Given the description of an element on the screen output the (x, y) to click on. 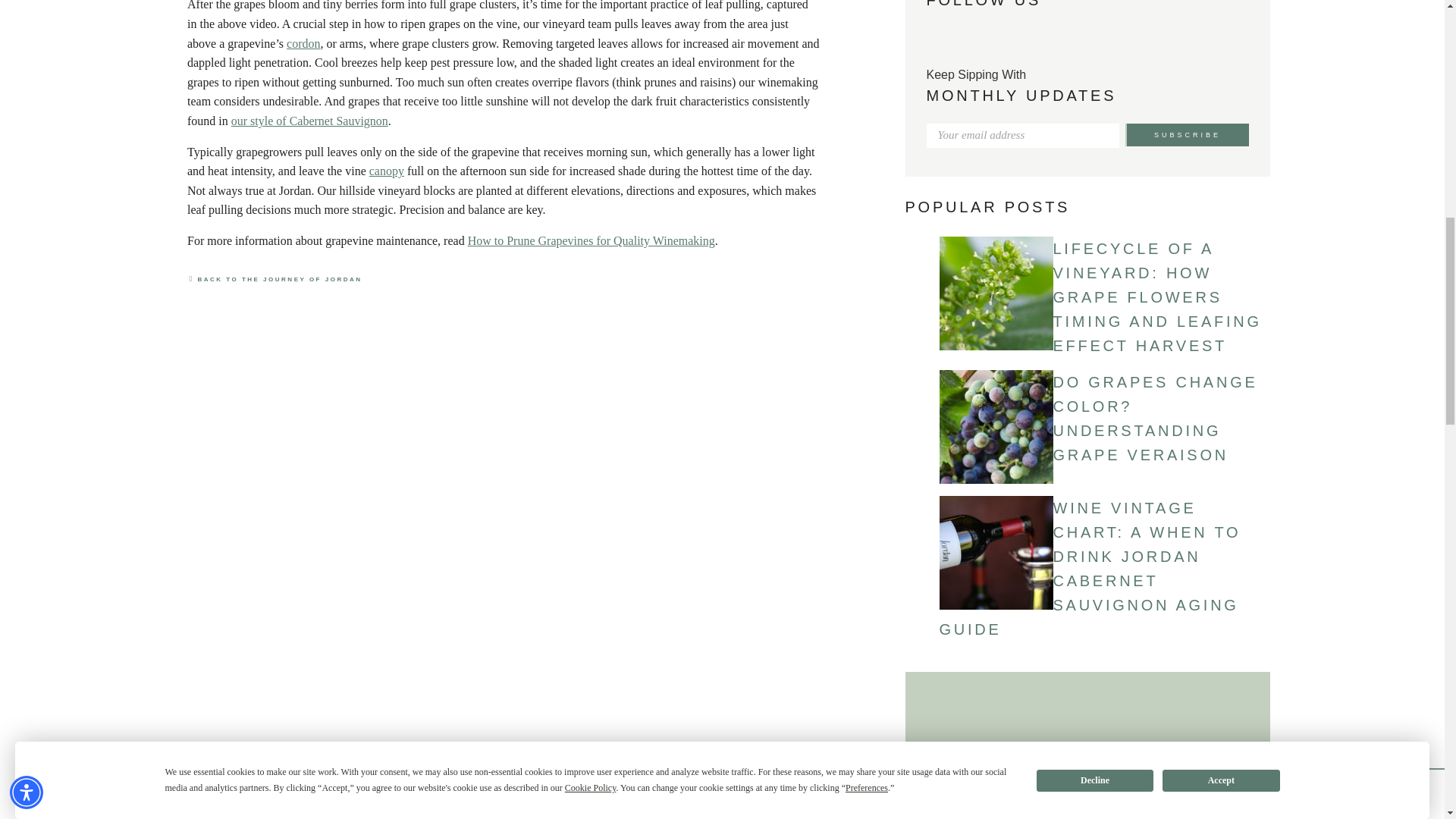
Jordan Cabernet Sauvignon (309, 120)
Grape canopy, vine (386, 170)
Grapevine cordon (303, 42)
Subscribe (1187, 134)
